Given the description of an element on the screen output the (x, y) to click on. 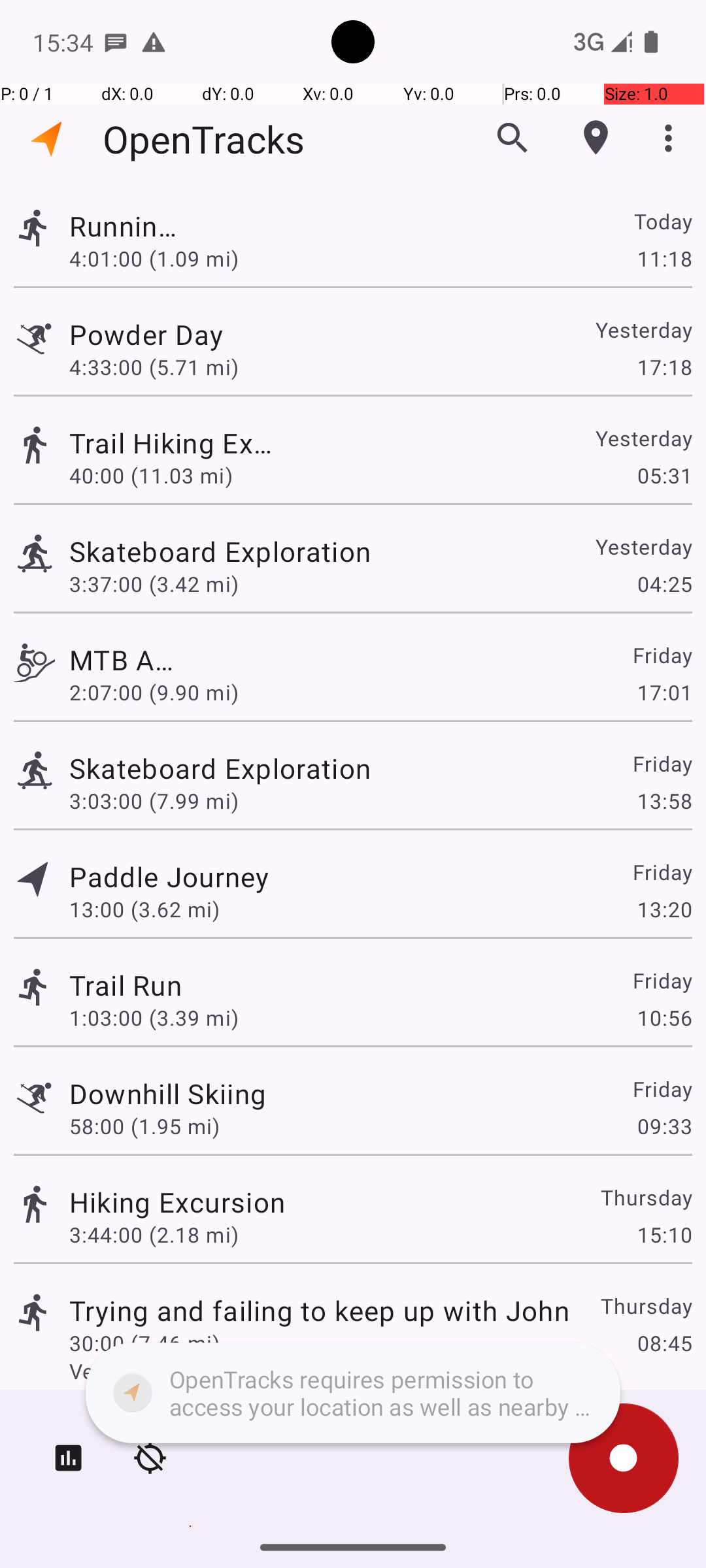
Record Element type: android.widget.ImageButton (623, 1458)
Track Element type: android.widget.ImageView (33, 227)
Running Challenge Element type: android.widget.TextView (125, 225)
Today Element type: android.widget.TextView (662, 221)
4:01:00 (1.09 mi) Element type: android.widget.TextView (153, 258)
11:18 Element type: android.widget.TextView (664, 258)
Powder Day Element type: android.widget.TextView (167, 333)
Yesterday Element type: android.widget.TextView (643, 329)
4:33:00 (5.71 mi) Element type: android.widget.TextView (153, 366)
17:18 Element type: android.widget.TextView (664, 366)
Trail Hiking Excursion Element type: android.widget.TextView (176, 442)
40:00 (11.03 mi) Element type: android.widget.TextView (153, 475)
05:31 Element type: android.widget.TextView (664, 475)
Skateboard Exploration Element type: android.widget.TextView (319, 550)
3:37:00 (3.42 mi) Element type: android.widget.TextView (153, 583)
04:25 Element type: android.widget.TextView (664, 583)
MTB Adventure Element type: android.widget.TextView (128, 659)
Friday Element type: android.widget.TextView (661, 654)
2:07:00 (9.90 mi) Element type: android.widget.TextView (153, 692)
17:01 Element type: android.widget.TextView (664, 692)
3:03:00 (7.99 mi) Element type: android.widget.TextView (153, 800)
13:58 Element type: android.widget.TextView (664, 800)
Paddle Journey Element type: android.widget.TextView (168, 876)
13:00 (3.62 mi) Element type: android.widget.TextView (144, 909)
13:20 Element type: android.widget.TextView (664, 909)
Trail Run Element type: android.widget.TextView (125, 984)
1:03:00 (3.39 mi) Element type: android.widget.TextView (153, 1017)
10:56 Element type: android.widget.TextView (664, 1017)
Downhill Skiing Element type: android.widget.TextView (167, 1092)
58:00 (1.95 mi) Element type: android.widget.TextView (144, 1125)
09:33 Element type: android.widget.TextView (664, 1125)
Hiking Excursion Element type: android.widget.TextView (176, 1201)
Thursday Element type: android.widget.TextView (645, 1197)
3:44:00 (2.18 mi) Element type: android.widget.TextView (153, 1234)
15:10 Element type: android.widget.TextView (664, 1234)
Trying and failing to keep up with John Element type: android.widget.TextView (319, 1309)
30:00 (7.46 mi) Element type: android.widget.TextView (144, 1342)
08:45 Element type: android.widget.TextView (664, 1342)
Ventured into uncharted territory. Element type: android.widget.TextView (380, 1370)
